Given the description of an element on the screen output the (x, y) to click on. 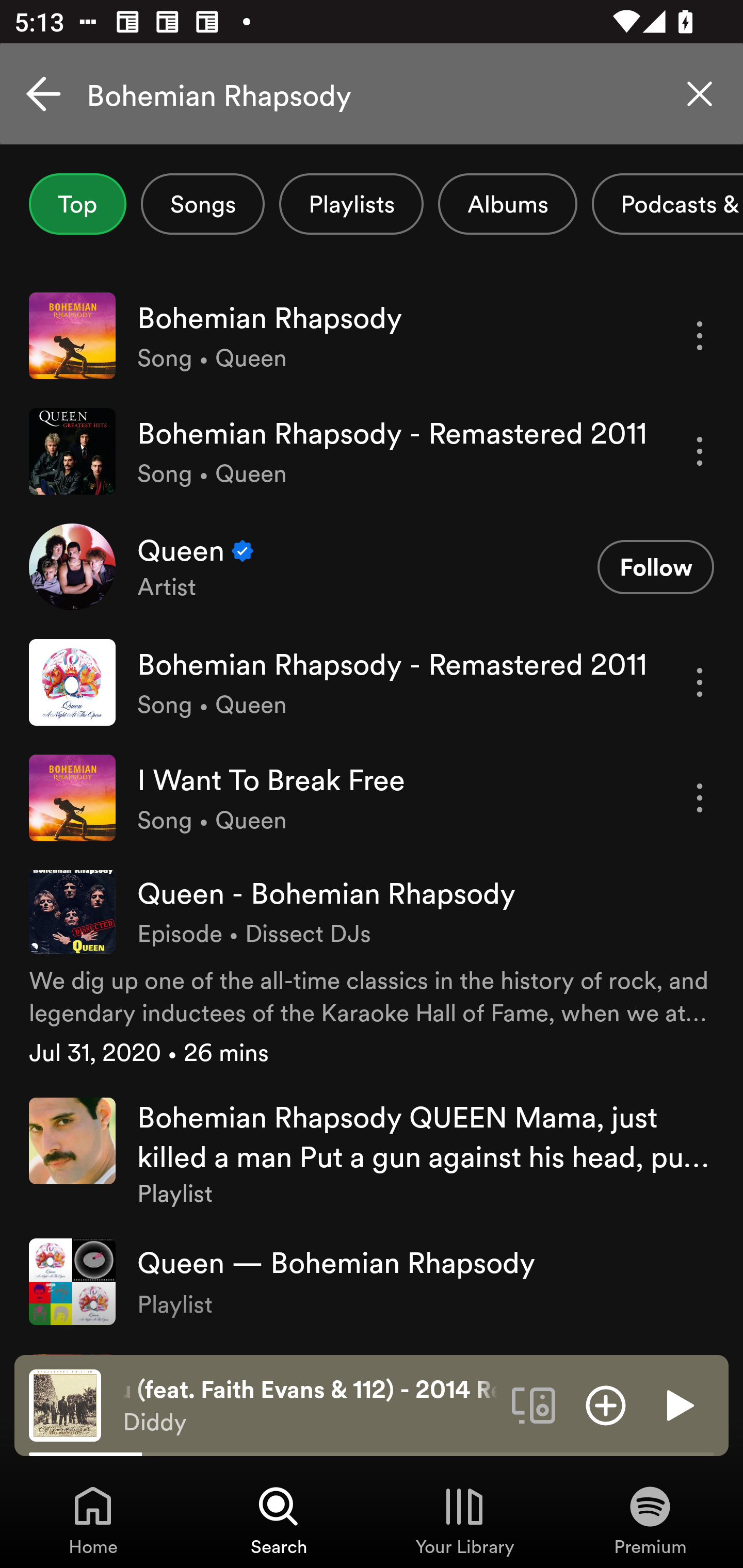
Bohemian Rhapsody (371, 93)
Cancel (43, 93)
Clear search query (699, 93)
Top (77, 203)
Songs (202, 203)
Playlists (351, 203)
Albums (507, 203)
Podcasts & Shows (667, 203)
More options for song Bohemian Rhapsody (699, 336)
Queen Verified Artist Follow Follow (371, 566)
Follow (655, 566)
More options for song I Want To Break Free (699, 798)
Queen — Bohemian Rhapsody Playlist (371, 1281)
The cover art of the currently playing track (64, 1404)
Connect to a device. Opens the devices menu (533, 1404)
Add item (605, 1404)
Play (677, 1404)
Home, Tab 1 of 4 Home Home (92, 1519)
Search, Tab 2 of 4 Search Search (278, 1519)
Your Library, Tab 3 of 4 Your Library Your Library (464, 1519)
Premium, Tab 4 of 4 Premium Premium (650, 1519)
